Given the description of an element on the screen output the (x, y) to click on. 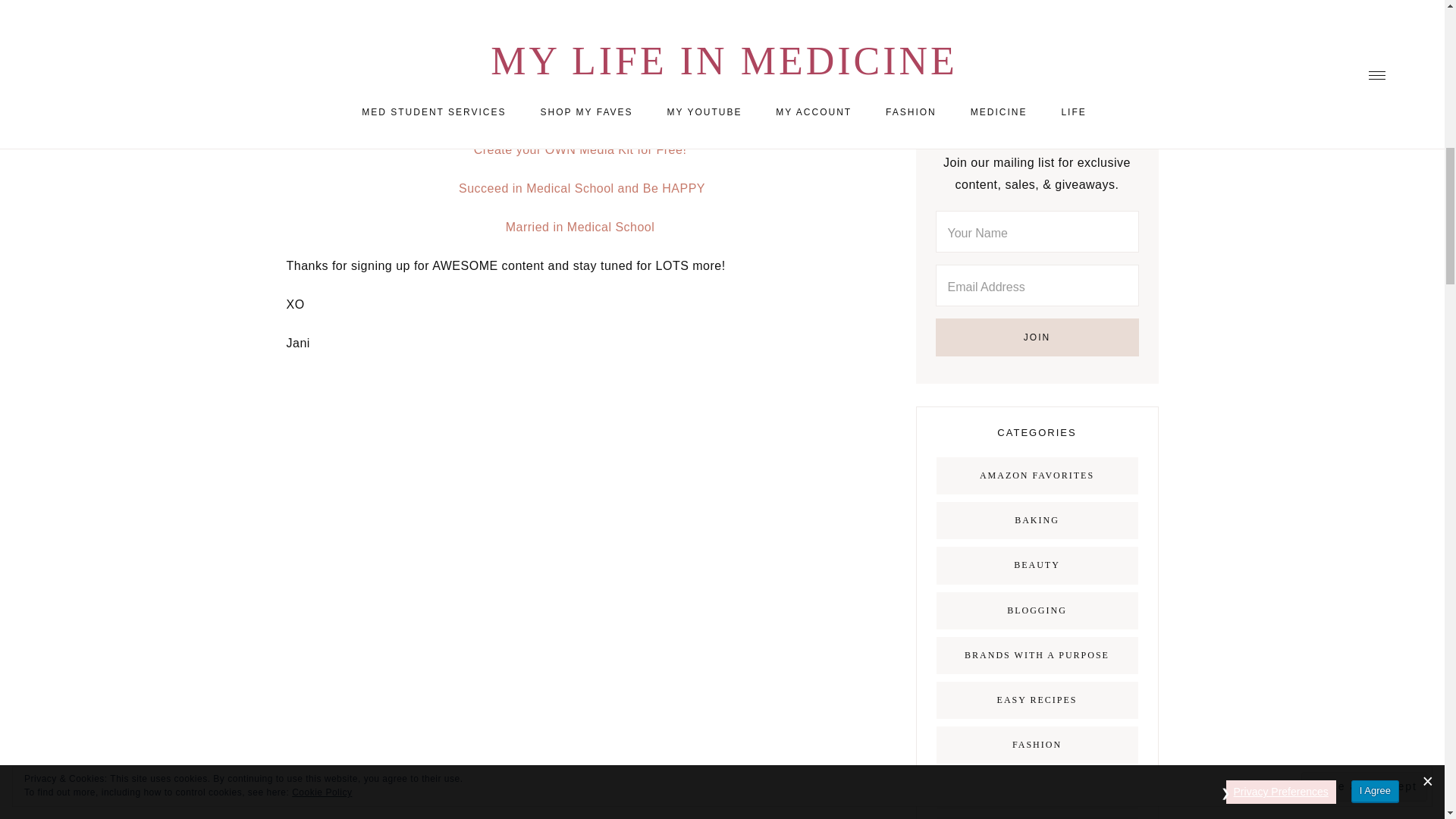
Facebook (1037, 19)
Join (1037, 337)
Pinterest (1110, 19)
Instagram (962, 19)
Twitter (1073, 19)
Youtube (1000, 19)
